Given the description of an element on the screen output the (x, y) to click on. 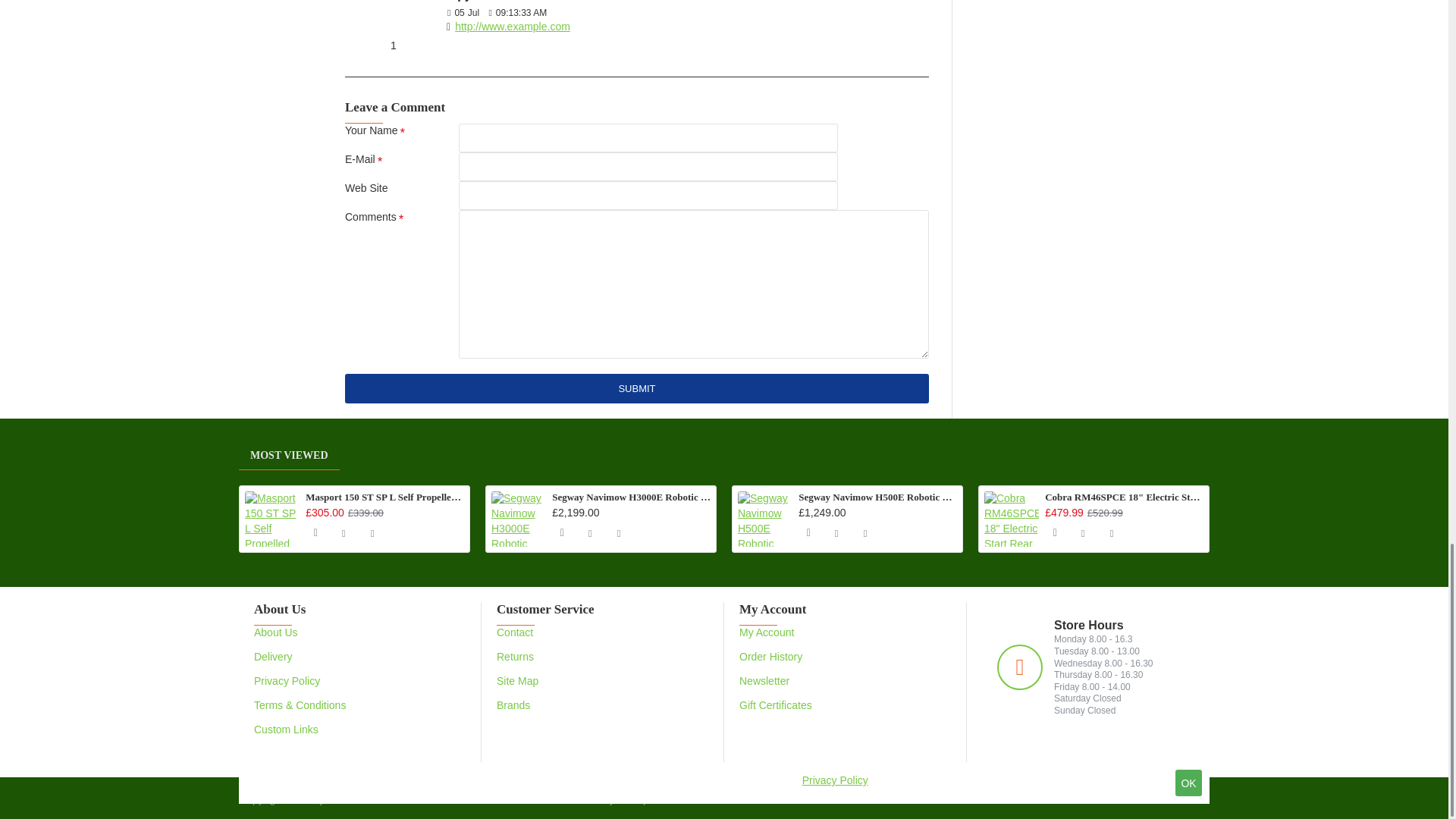
Add to Wish List (589, 532)
Segway Navimow H3000E Robotic Mower (519, 518)
Add to Wish List (343, 532)
Add to Wish List (836, 532)
Add to Cart (807, 532)
Compare this Product (372, 532)
Compare this Product (618, 532)
Add to Cart (314, 532)
Segway Navimow H500E Robotic Mower (765, 518)
Add to Cart (561, 532)
Masport 150 ST SP L Self Propelled Lawnmower (271, 518)
